Given the description of an element on the screen output the (x, y) to click on. 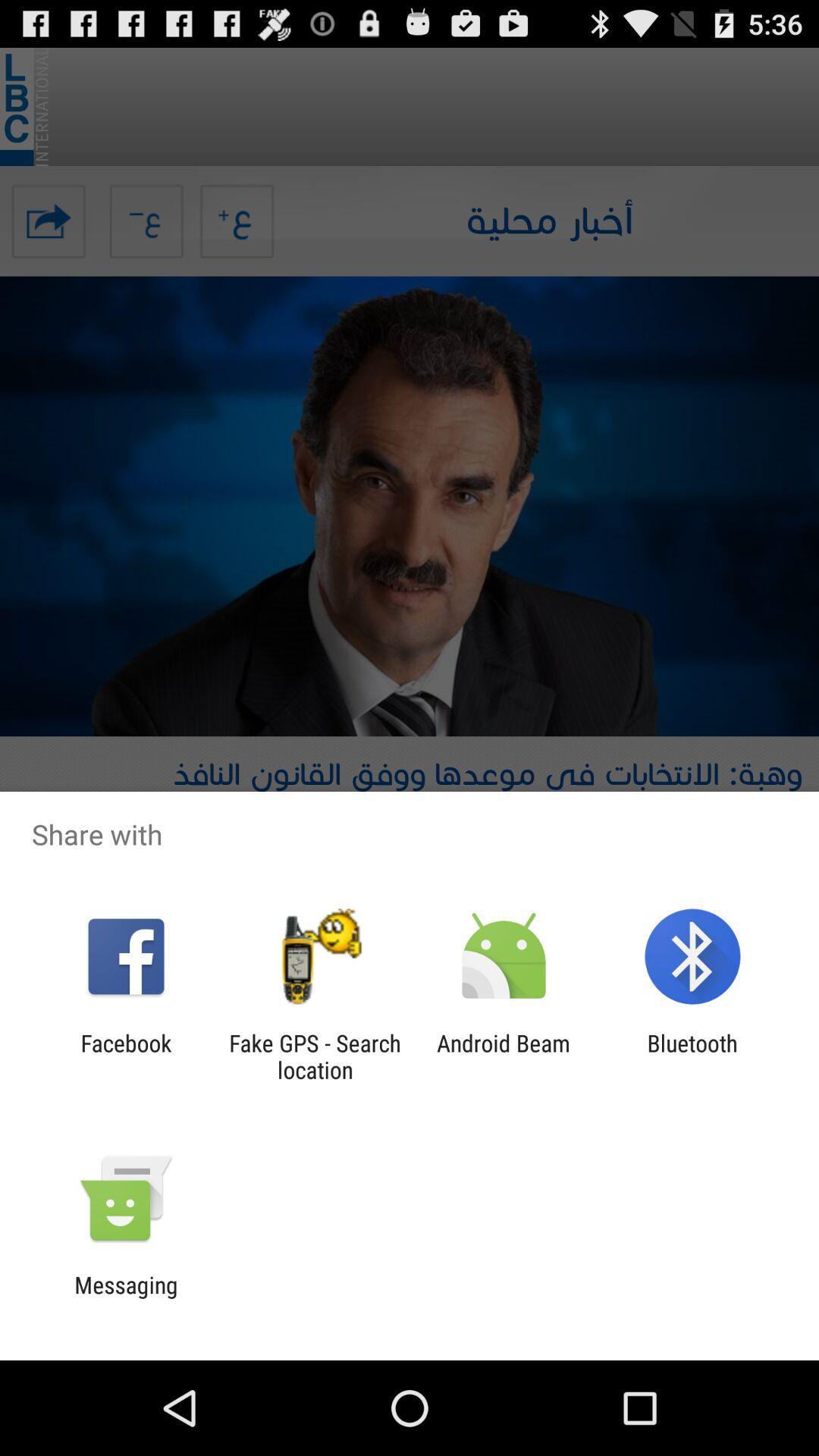
tap icon next to android beam app (314, 1056)
